Given the description of an element on the screen output the (x, y) to click on. 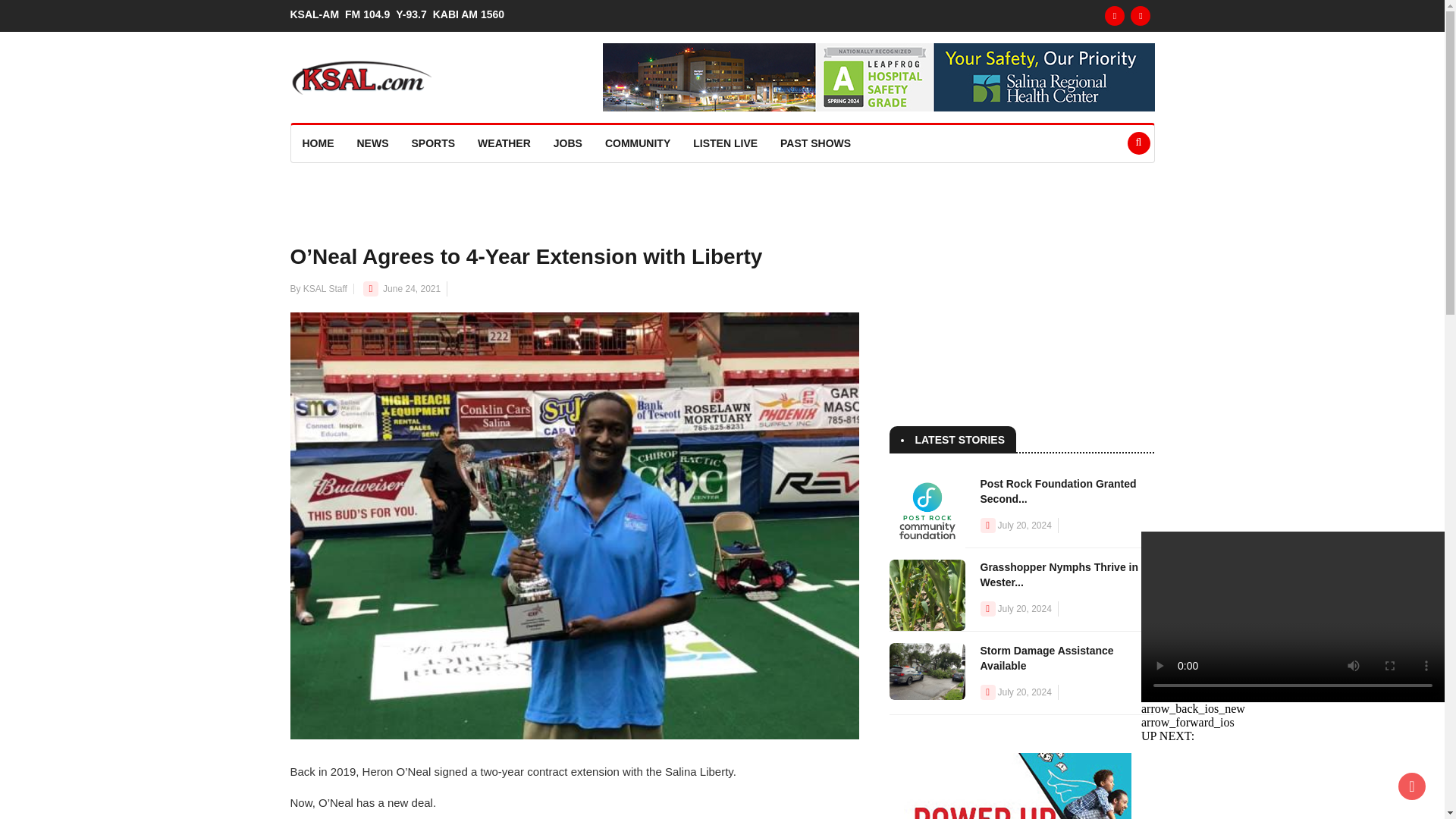
Facebook (1114, 15)
COMMUNITY (637, 143)
SPORTS (433, 143)
JOBS (567, 143)
FM 104.9 (370, 13)
HOME (318, 143)
Back to Top (1411, 786)
NEWS (373, 143)
Salinas Womens Cliinic (878, 77)
Twitter (1140, 15)
KABI AM 1560 (471, 13)
Y-93.7 (414, 13)
WEATHER (503, 143)
KSAL-AM (317, 13)
